Given the description of an element on the screen output the (x, y) to click on. 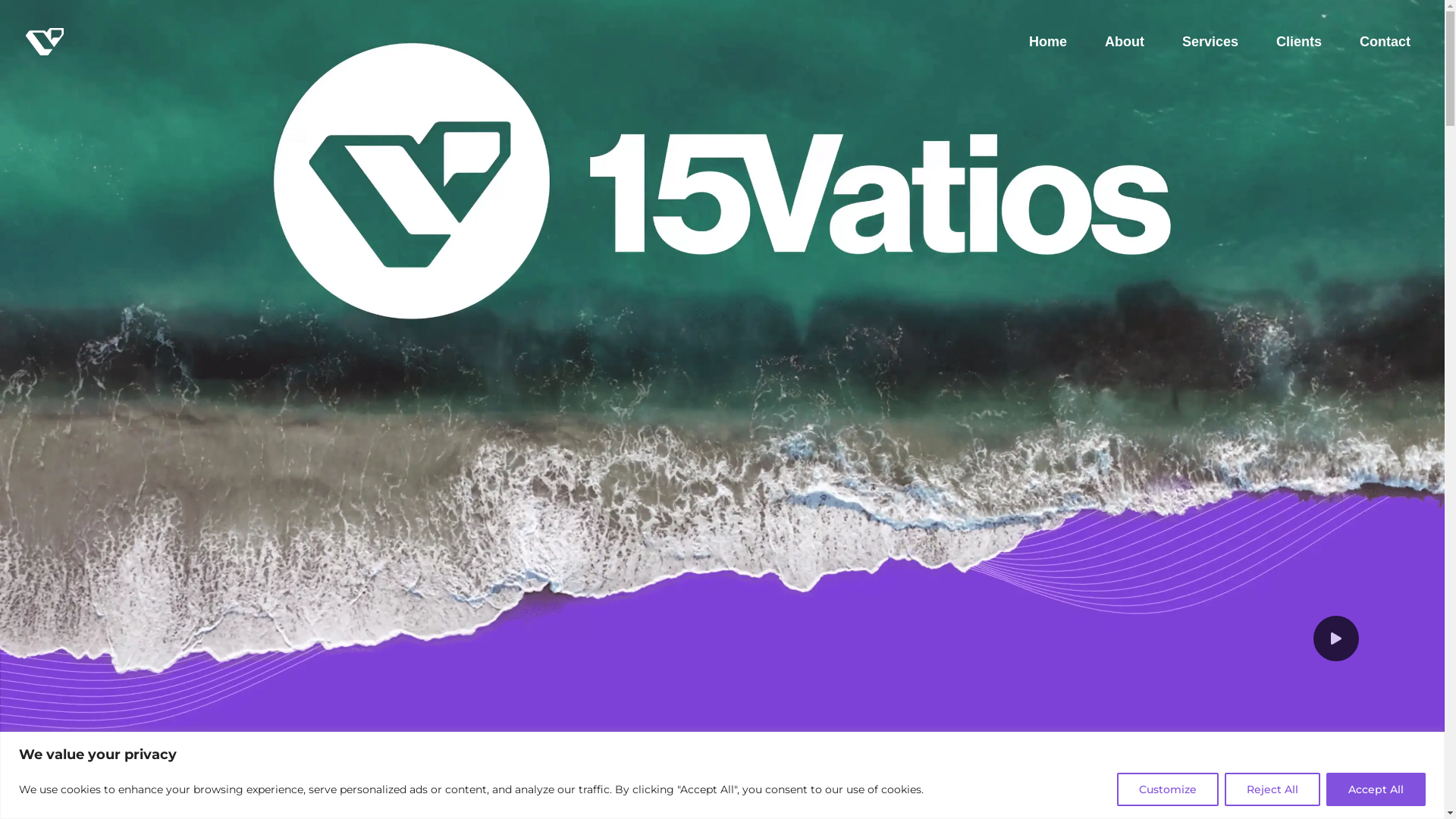
Services Element type: text (1210, 41)
About Element type: text (1124, 41)
Home Element type: text (1047, 41)
Reject All Element type: text (1272, 788)
Clients Element type: text (1298, 41)
Customize Element type: text (1167, 788)
Contact Element type: text (1384, 41)
Accept All Element type: text (1375, 788)
